Given the description of an element on the screen output the (x, y) to click on. 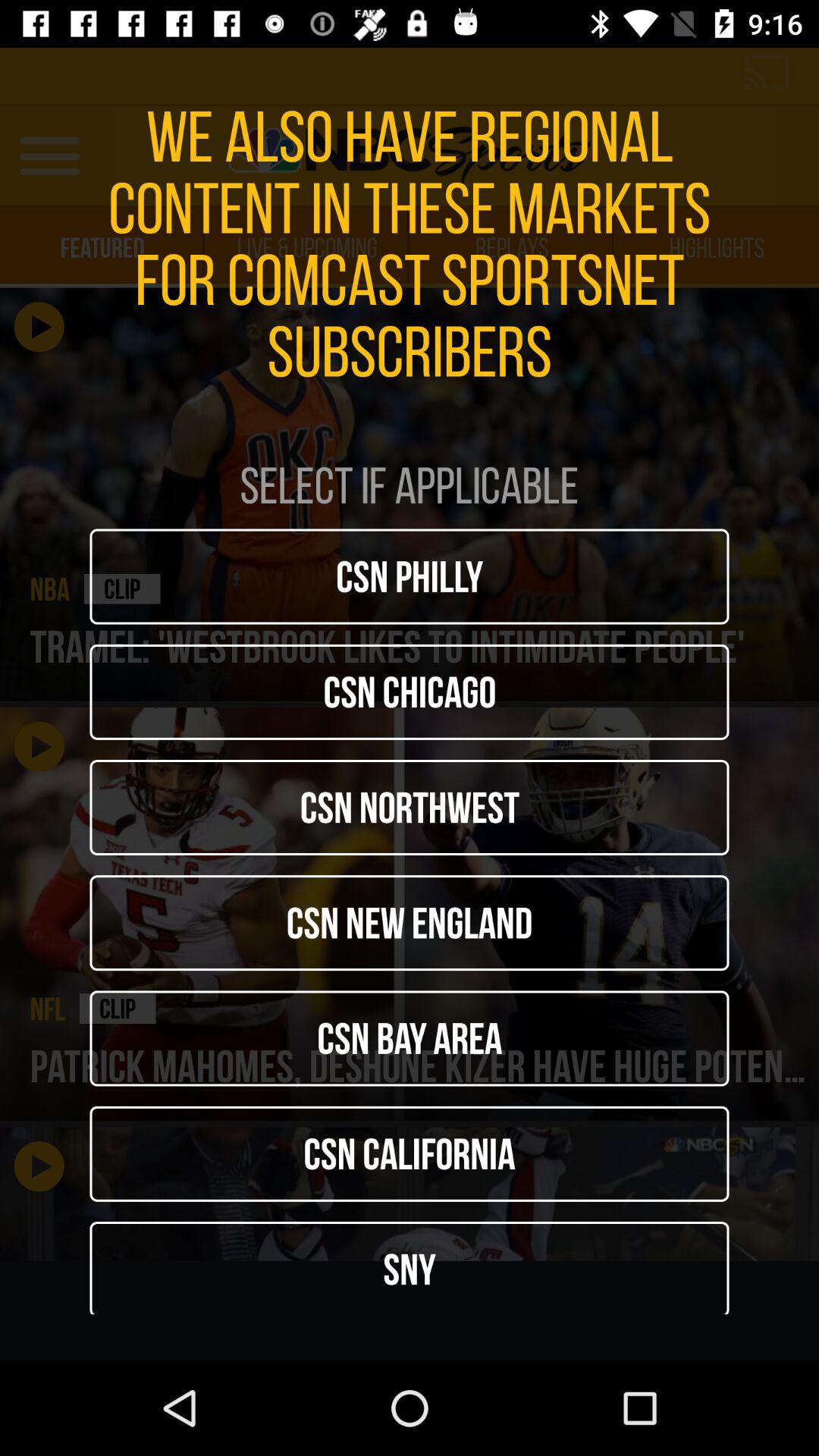
tap icon below select if applicable (409, 576)
